Given the description of an element on the screen output the (x, y) to click on. 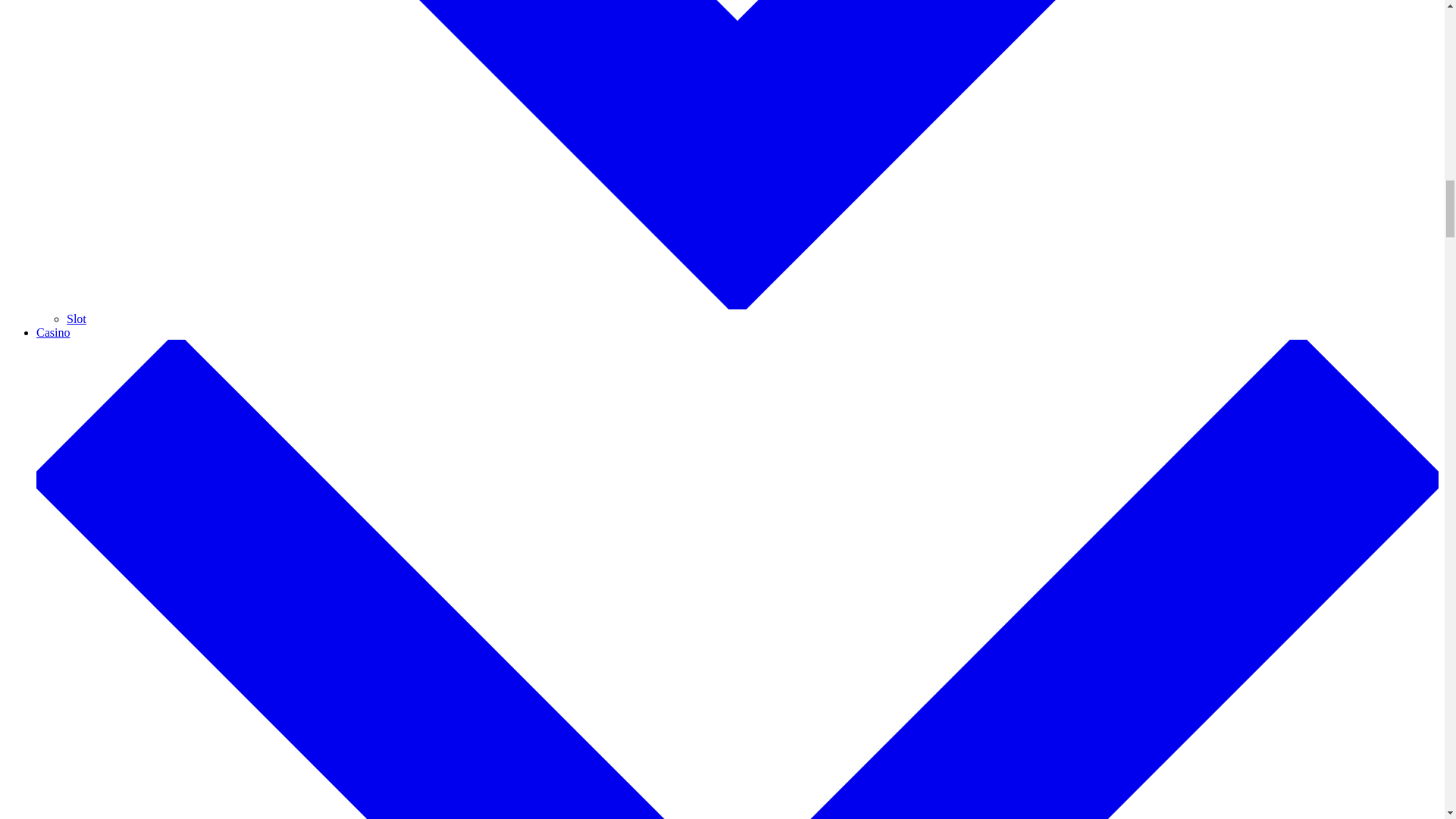
Slot (75, 318)
